Given the description of an element on the screen output the (x, y) to click on. 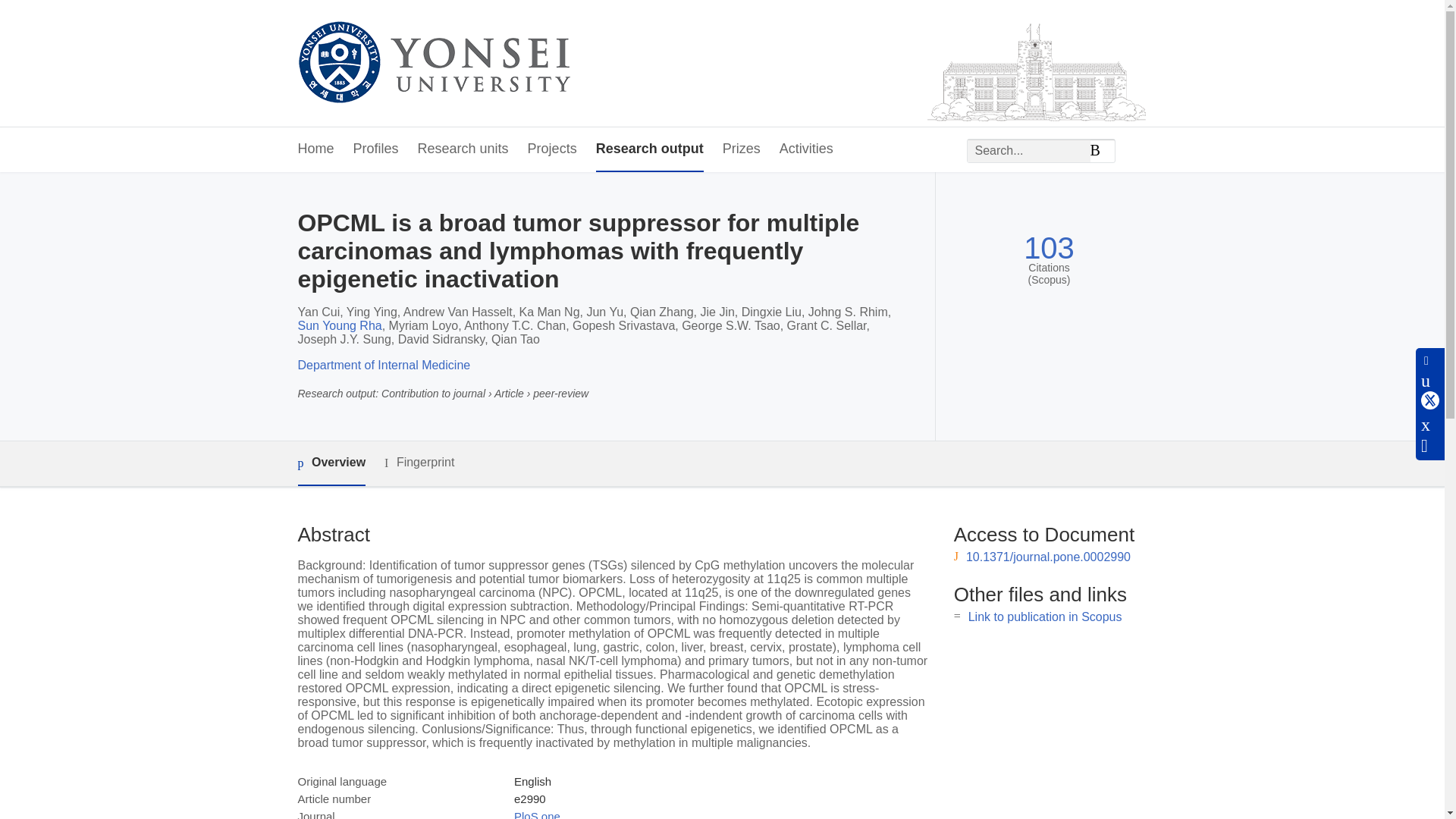
Research output (649, 149)
Profiles (375, 149)
103 (1048, 248)
Projects (551, 149)
PloS one (536, 814)
Link to publication in Scopus (1045, 616)
Department of Internal Medicine (383, 364)
Activities (805, 149)
Research units (462, 149)
